Given the description of an element on the screen output the (x, y) to click on. 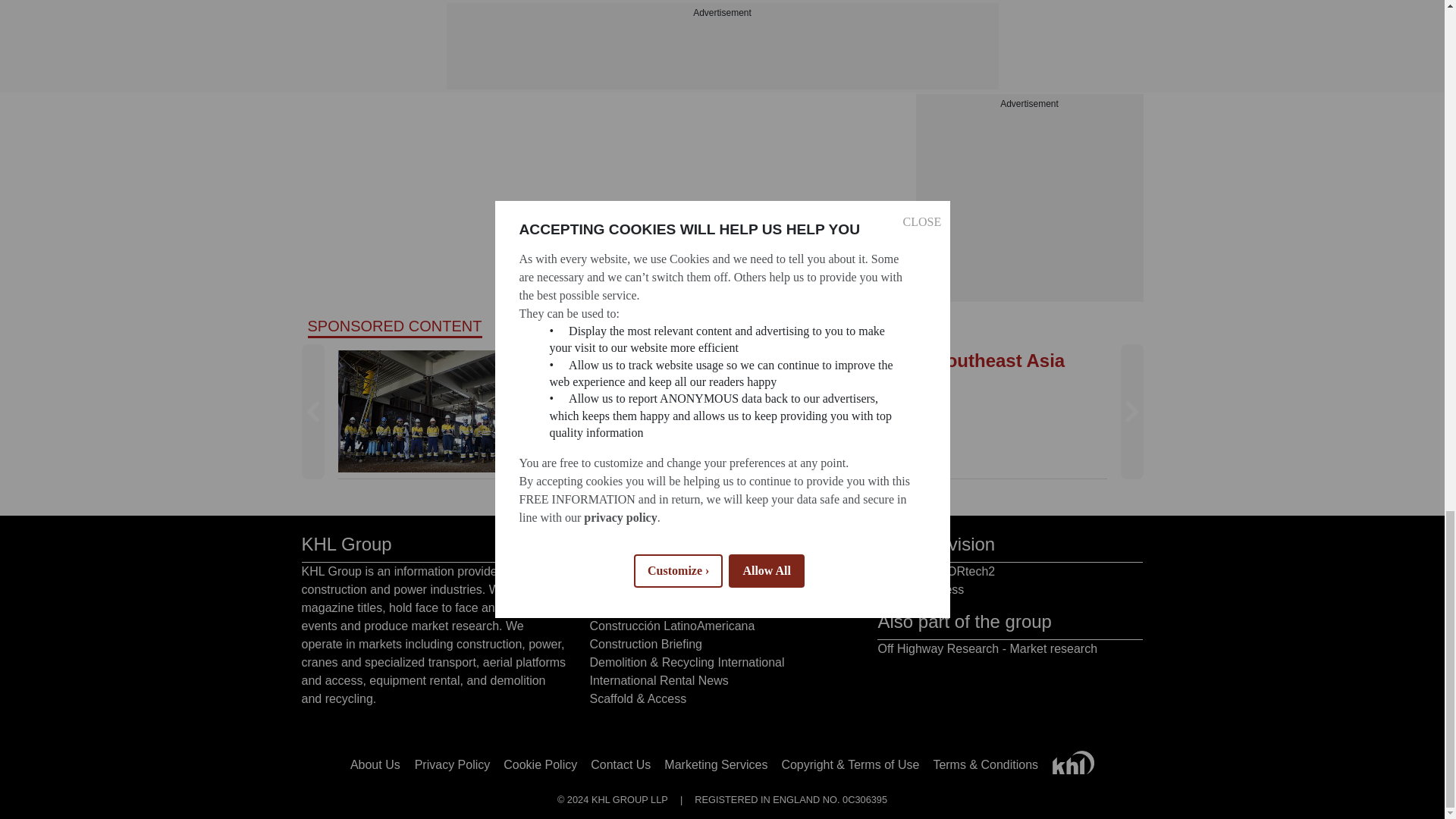
3rd party ad content (1028, 40)
3rd party ad content (1028, 207)
